Given the description of an element on the screen output the (x, y) to click on. 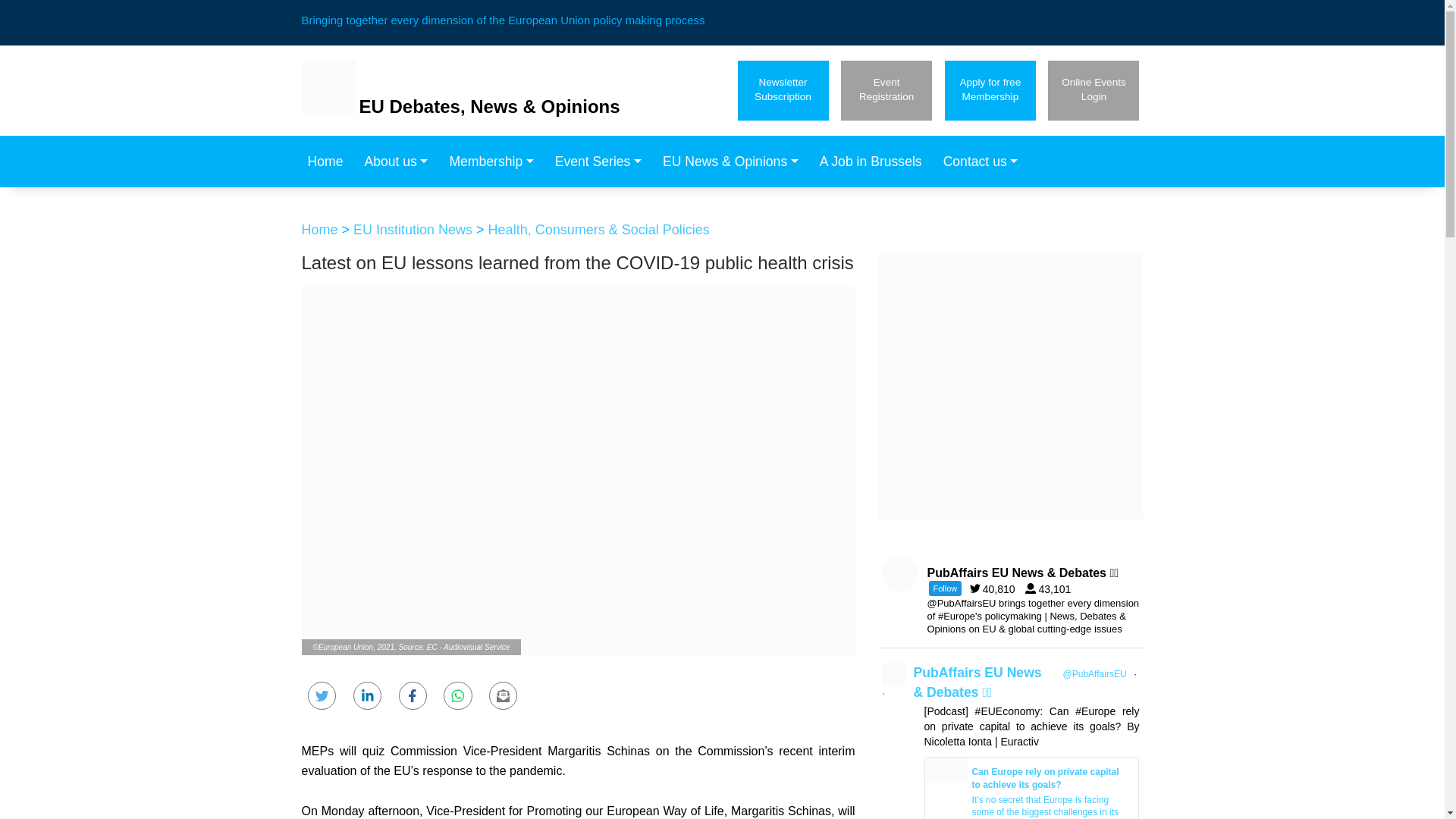
Membership (886, 90)
43,101 Followers (495, 161)
Home (1051, 589)
About us (989, 90)
Event Series (329, 161)
40,810 Tweets (400, 161)
